Given the description of an element on the screen output the (x, y) to click on. 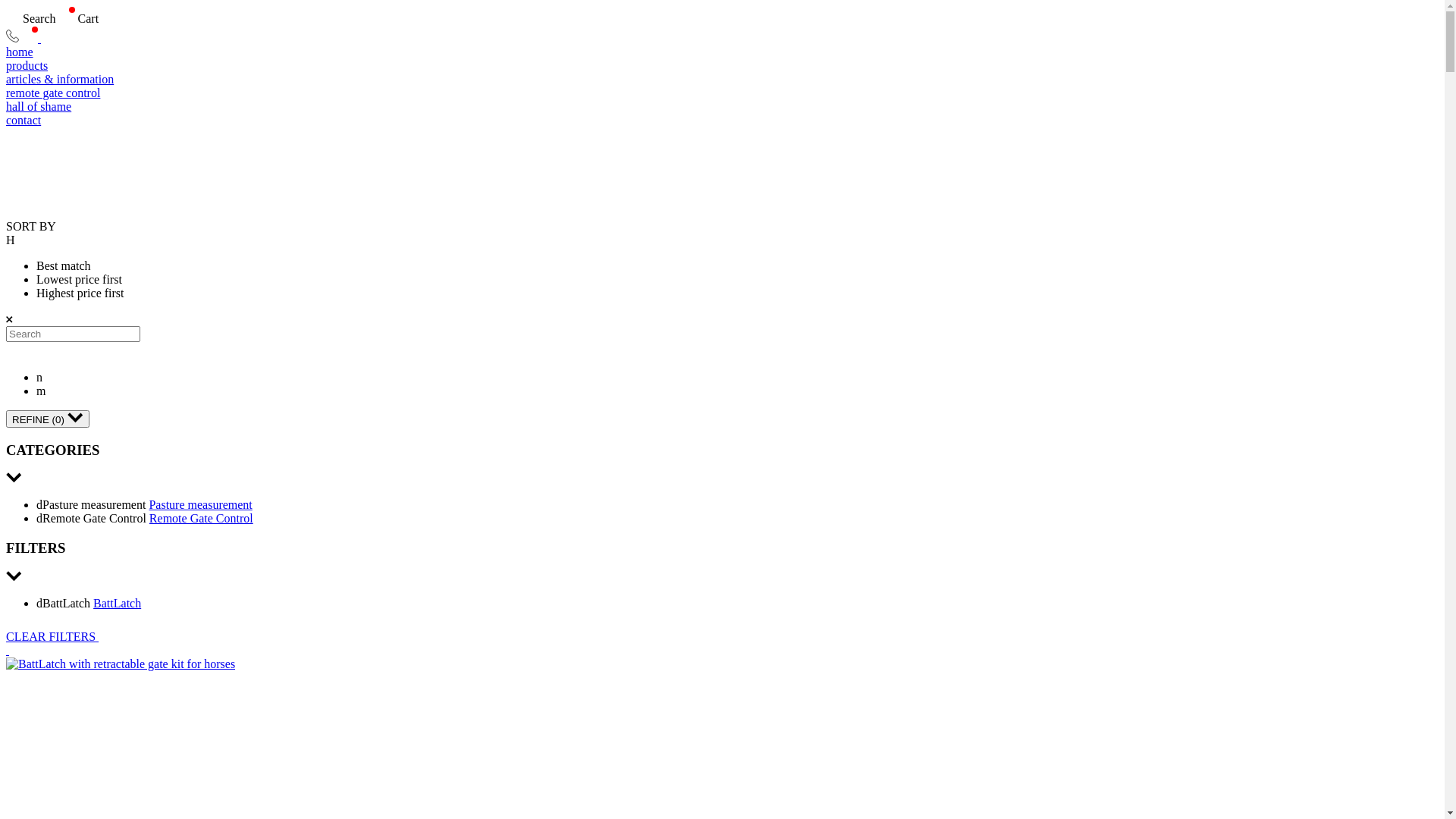
Search Element type: text (31, 18)
home Element type: text (722, 52)
contact Element type: text (722, 120)
dRemote Gate Control Element type: text (92, 517)
dPasture measurement Element type: text (92, 504)
dBattLatch Element type: text (64, 602)
REFINE (0) Element type: text (47, 418)
BattLatch Element type: text (117, 602)
articles & information Element type: text (722, 79)
Pasture measurement Element type: text (199, 504)
Remote Gate Control Element type: text (201, 517)
hall of shame Element type: text (722, 106)
products Element type: text (722, 65)
Shape Created with Sketch. Element type: text (12, 37)
  Element type: text (7, 649)
remote gate control Element type: text (722, 93)
Cart Element type: text (77, 18)
